Given the description of an element on the screen output the (x, y) to click on. 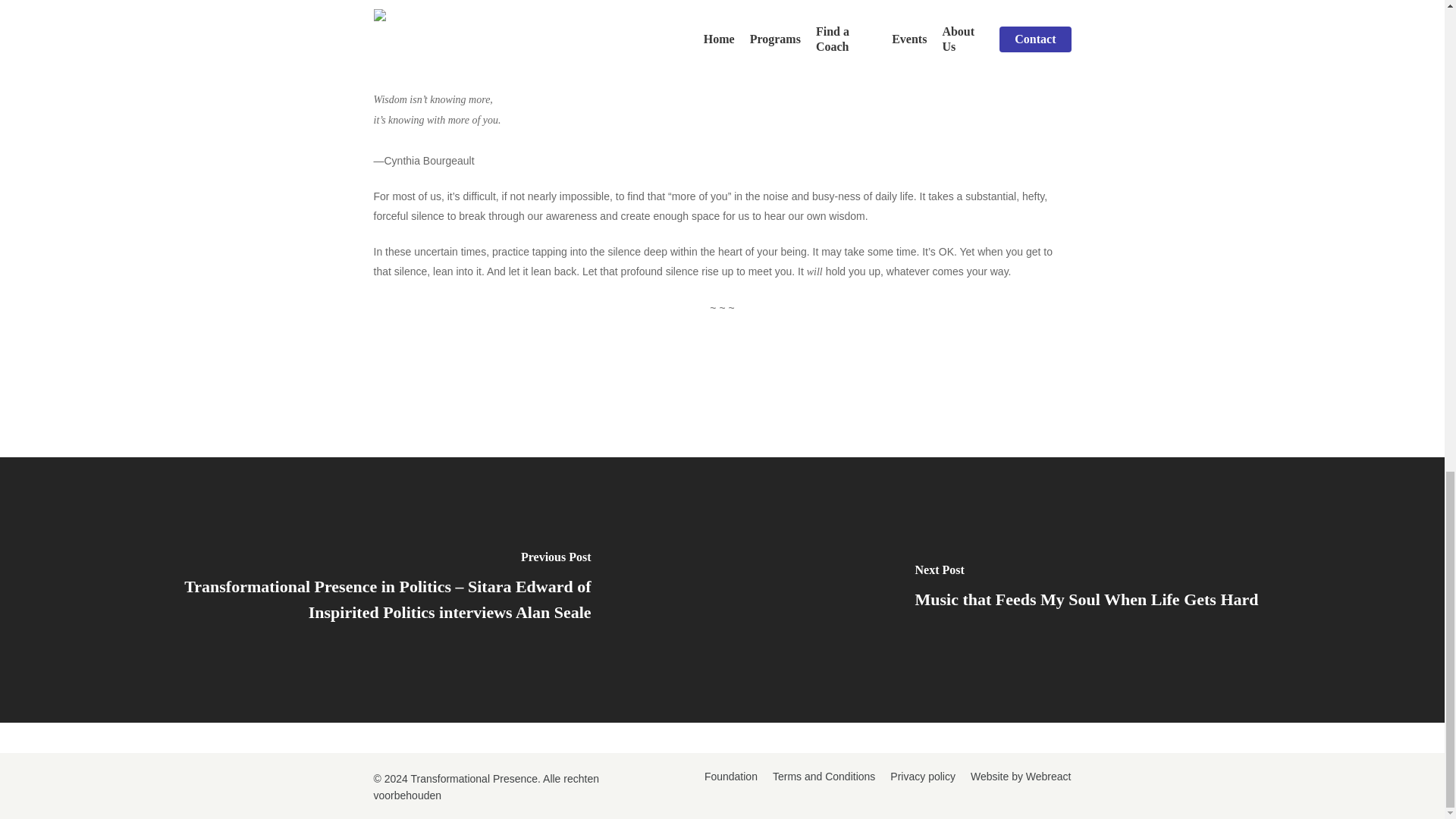
Privacy policy (922, 777)
Terms and Conditions (824, 777)
Website by Webreact (1021, 777)
Foundation (730, 777)
